Given the description of an element on the screen output the (x, y) to click on. 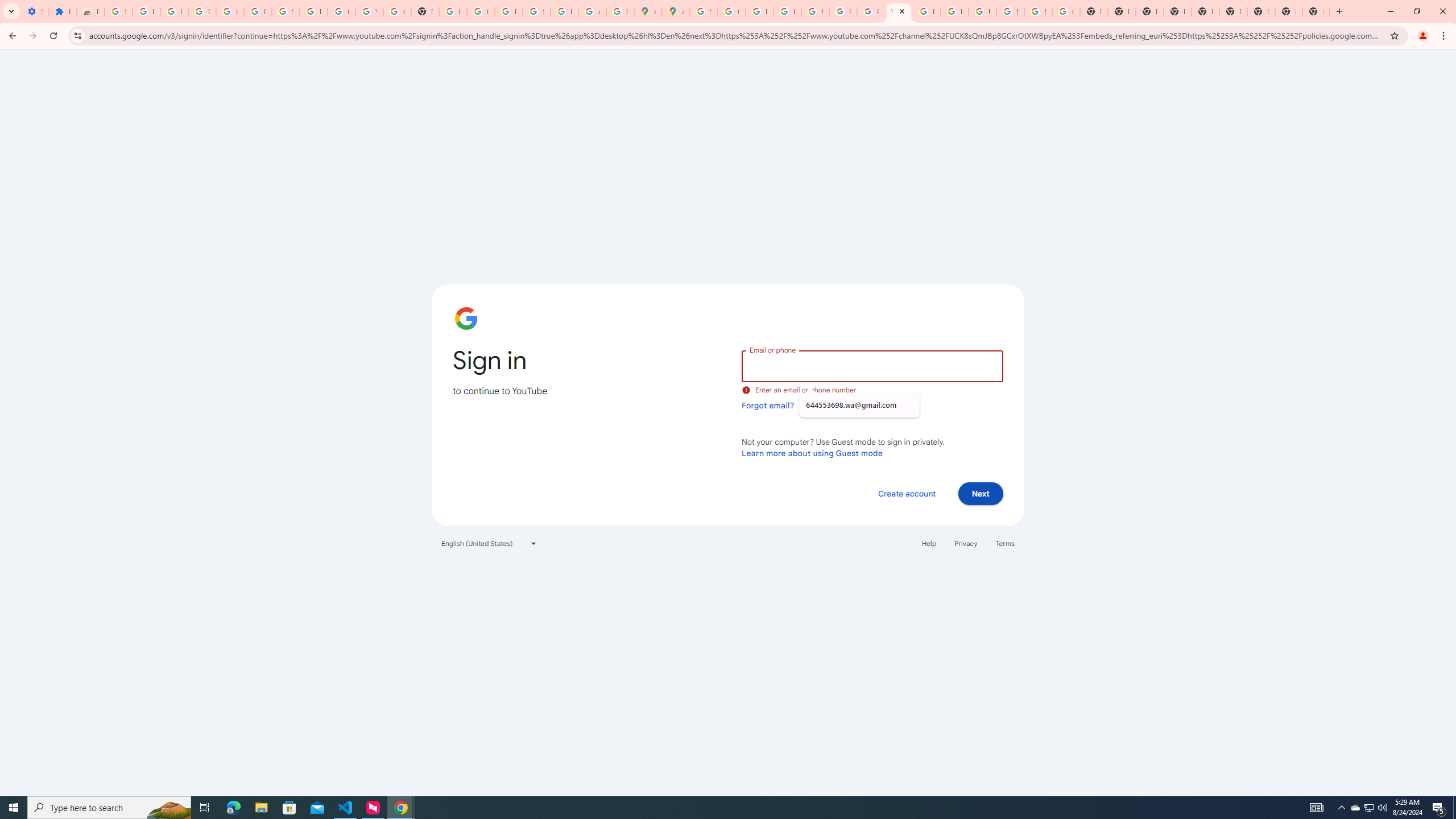
Privacy Help Center - Policies Help (759, 11)
